Given the description of an element on the screen output the (x, y) to click on. 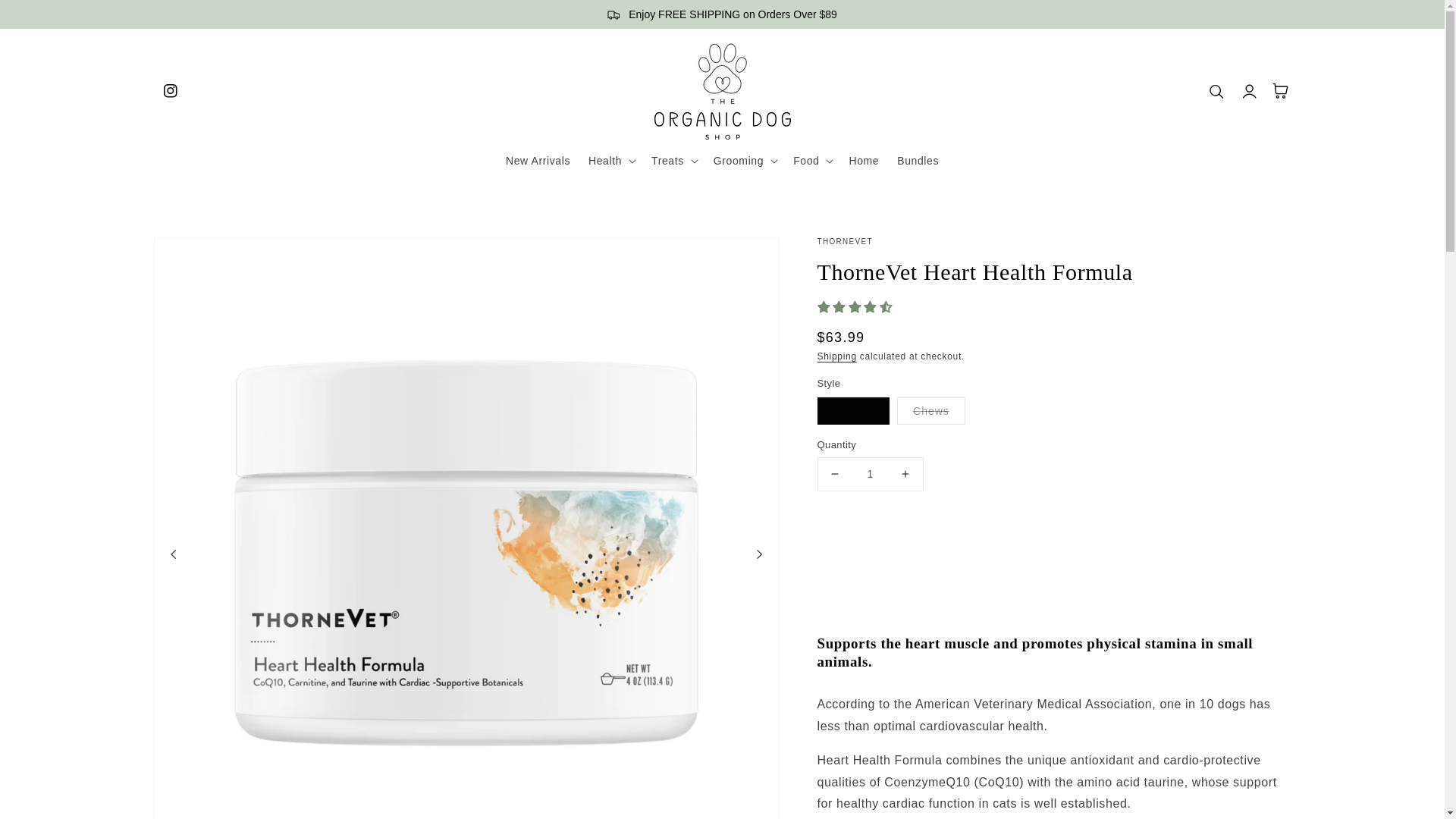
Skip to content (82, 16)
1 (869, 473)
